Given the description of an element on the screen output the (x, y) to click on. 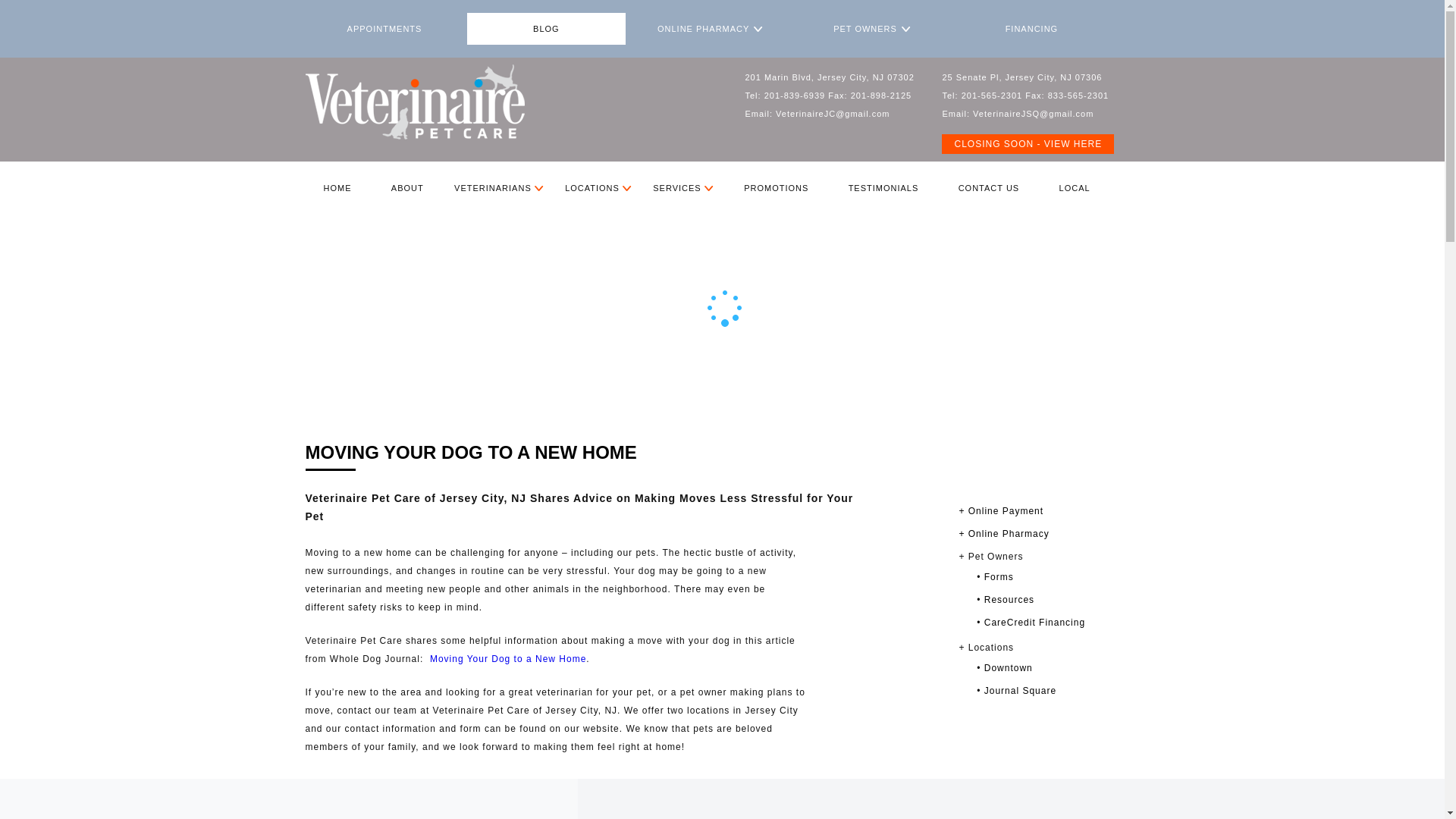
201-839-6939 (794, 94)
CONTACT US (989, 187)
TESTIMONIALS (883, 187)
ABOUT (407, 187)
PROMOTIONS (776, 187)
CLOSING SOON - VIEW HERE (1027, 143)
APPOINTMENTS (383, 29)
201-565-2301 (991, 94)
LOCAL (1074, 187)
BLOG (546, 29)
HOME (336, 187)
